Given the description of an element on the screen output the (x, y) to click on. 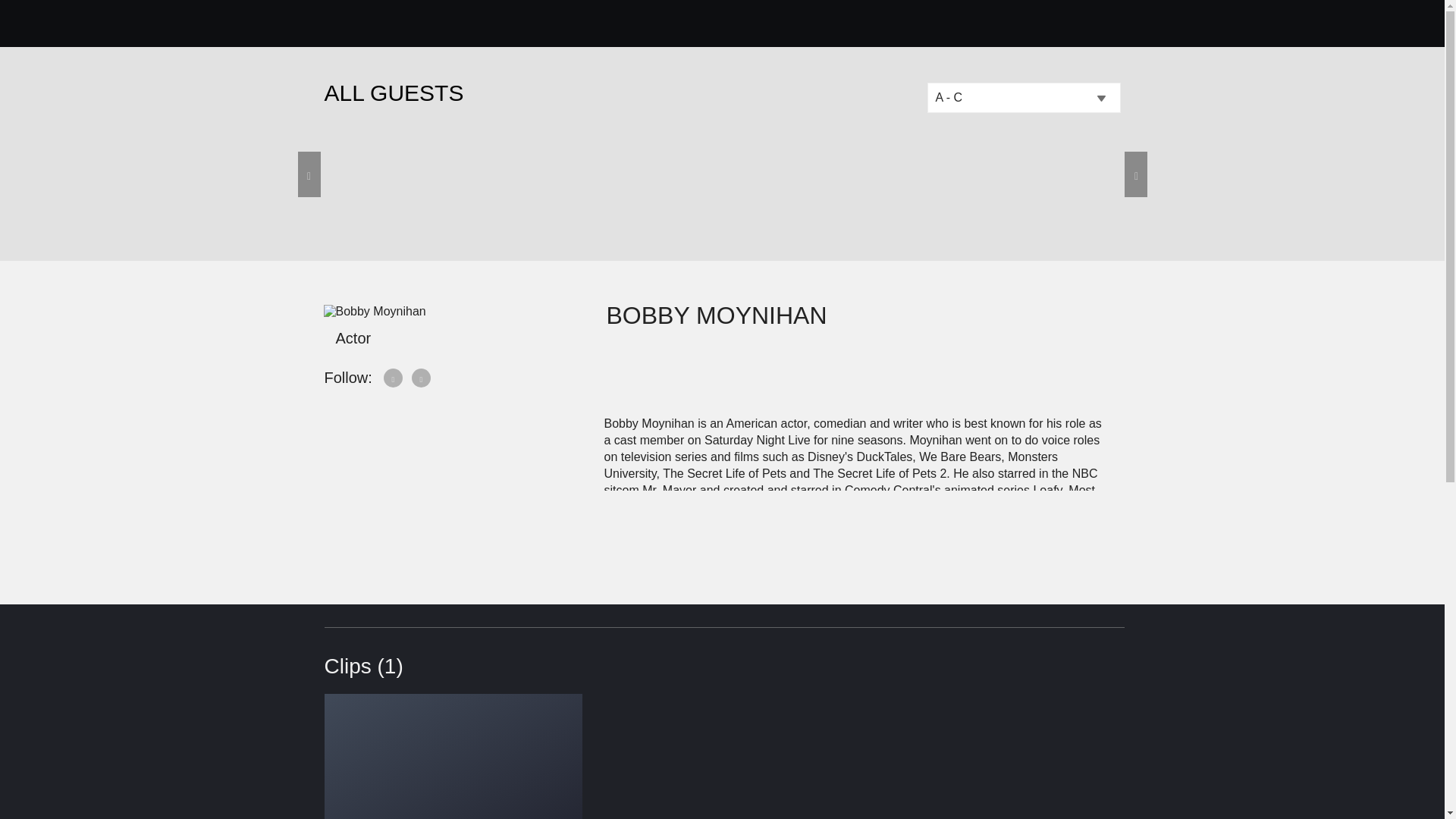
A - C (1022, 97)
Instagram (421, 377)
Twitter (393, 377)
